Given the description of an element on the screen output the (x, y) to click on. 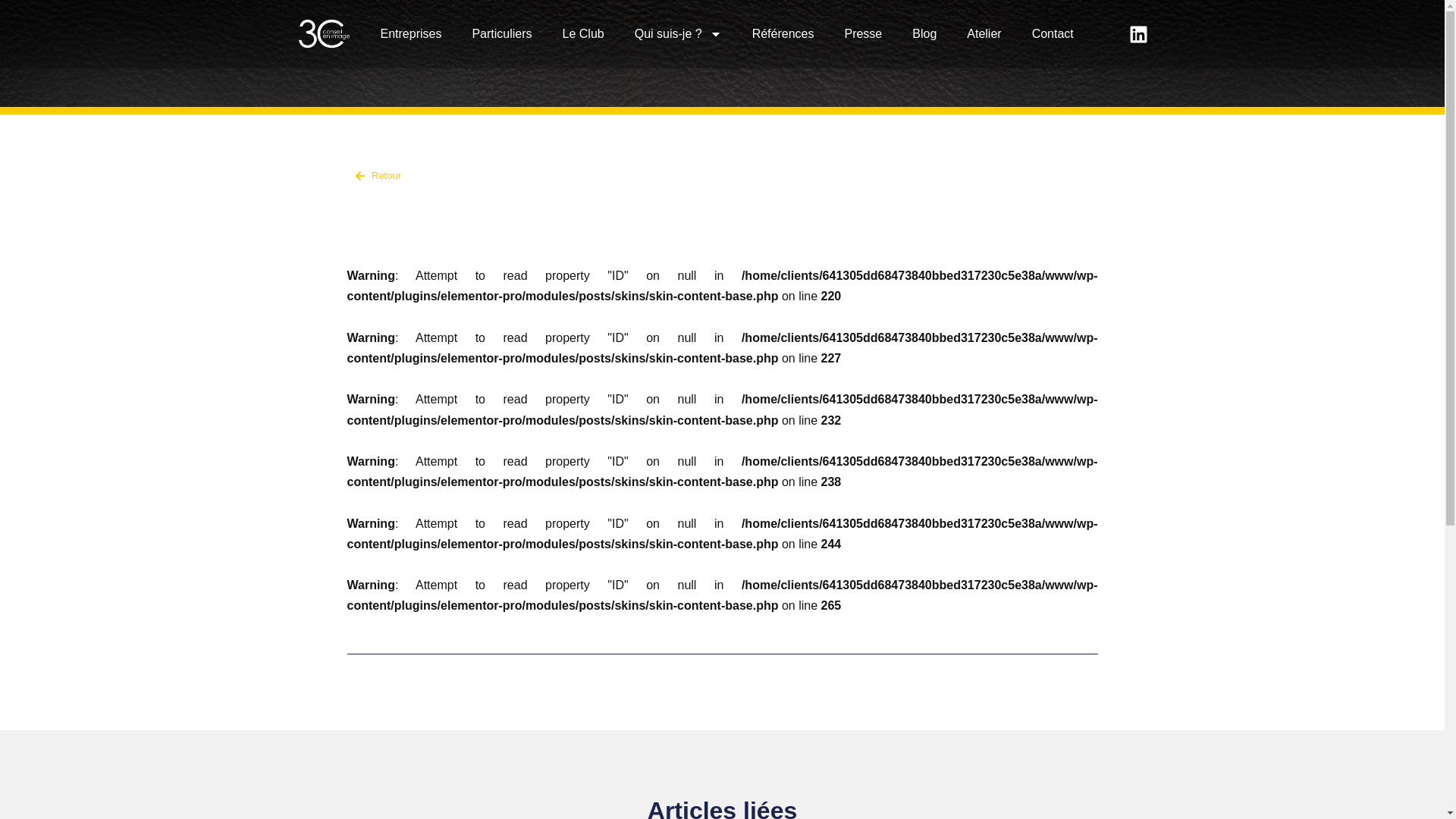
Atelier Element type: text (983, 33)
Entreprises Element type: text (411, 33)
Retour Element type: text (530, 175)
Presse Element type: text (862, 33)
Qui suis-je ? Element type: text (678, 33)
Aller au contenu Element type: text (11, 31)
Particuliers Element type: text (501, 33)
Contact Element type: text (1052, 33)
Le Club Element type: text (583, 33)
Blog Element type: text (924, 33)
